Given the description of an element on the screen output the (x, y) to click on. 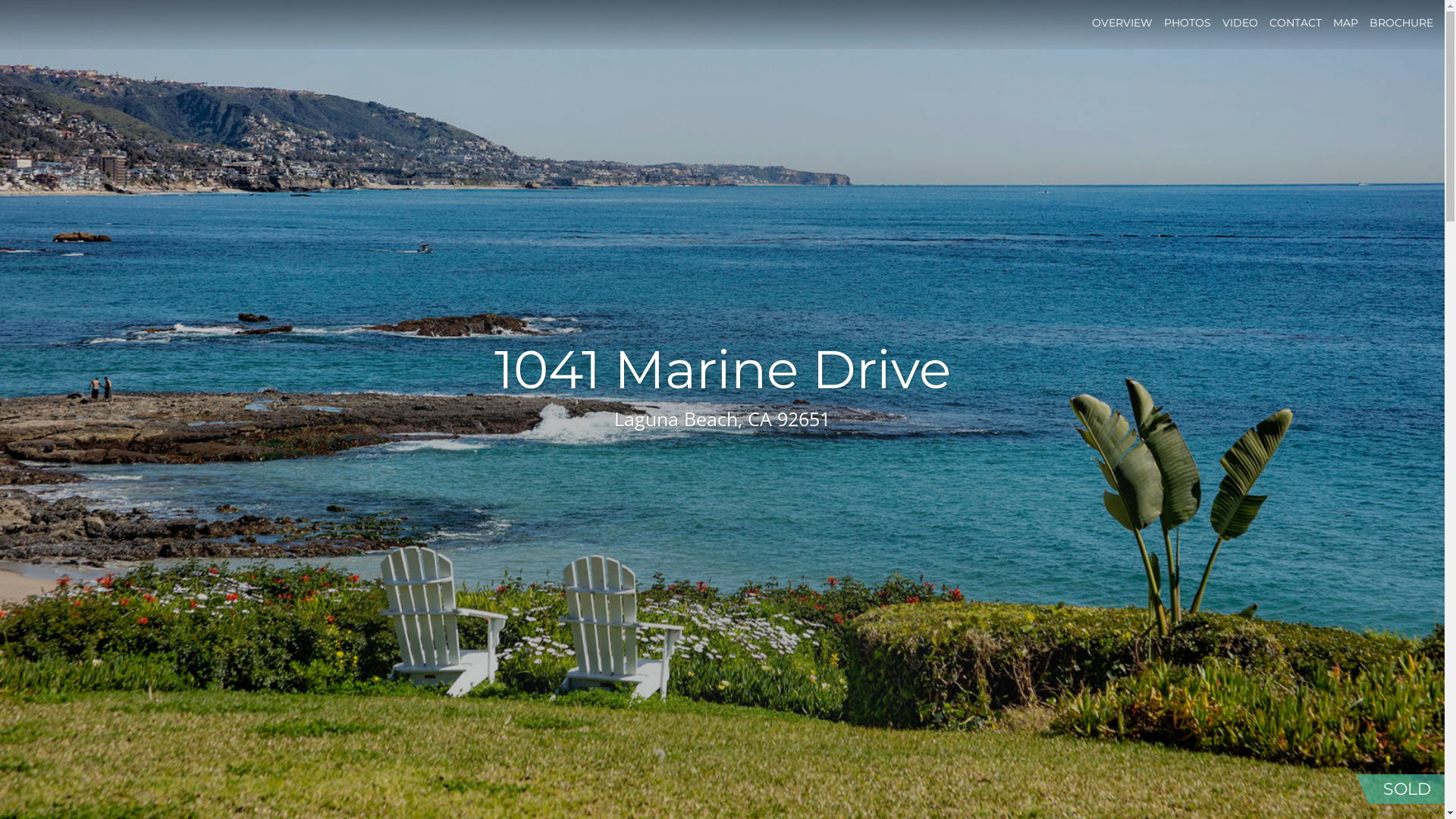
PHOTOS Element type: text (1187, 22)
CONTACT Element type: text (1295, 22)
MAP Element type: text (1345, 22)
BROCHURE Element type: text (1401, 22)
VIDEO Element type: text (1240, 22)
OVERVIEW Element type: text (1122, 22)
